Given the description of an element on the screen output the (x, y) to click on. 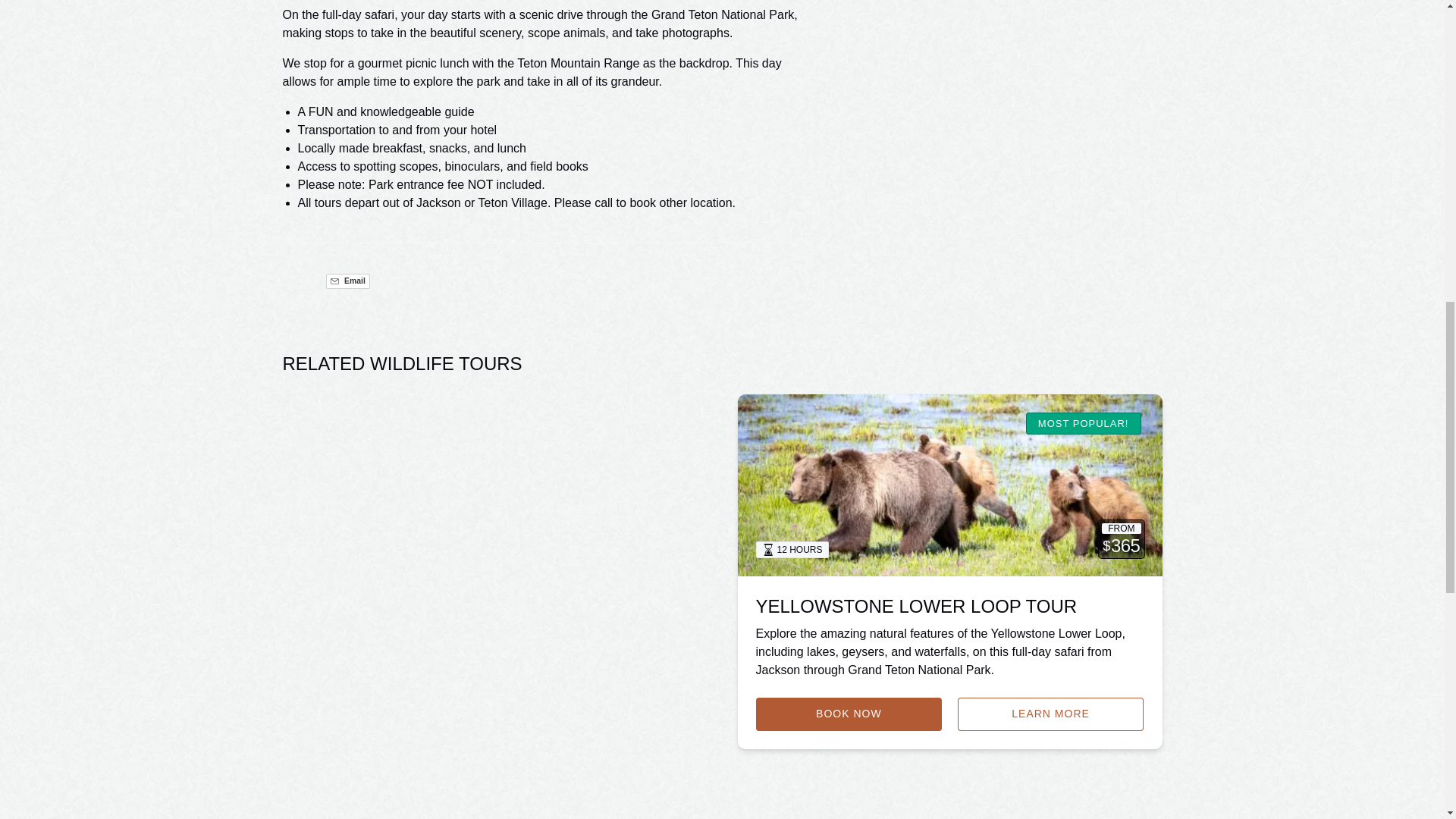
activity link (948, 484)
Email this page to a friend. (347, 281)
BOOK NOW (848, 714)
Email (347, 281)
LEARN MORE (1051, 714)
YELLOWSTONE LOWER LOOP TOUR (916, 606)
